Given the description of an element on the screen output the (x, y) to click on. 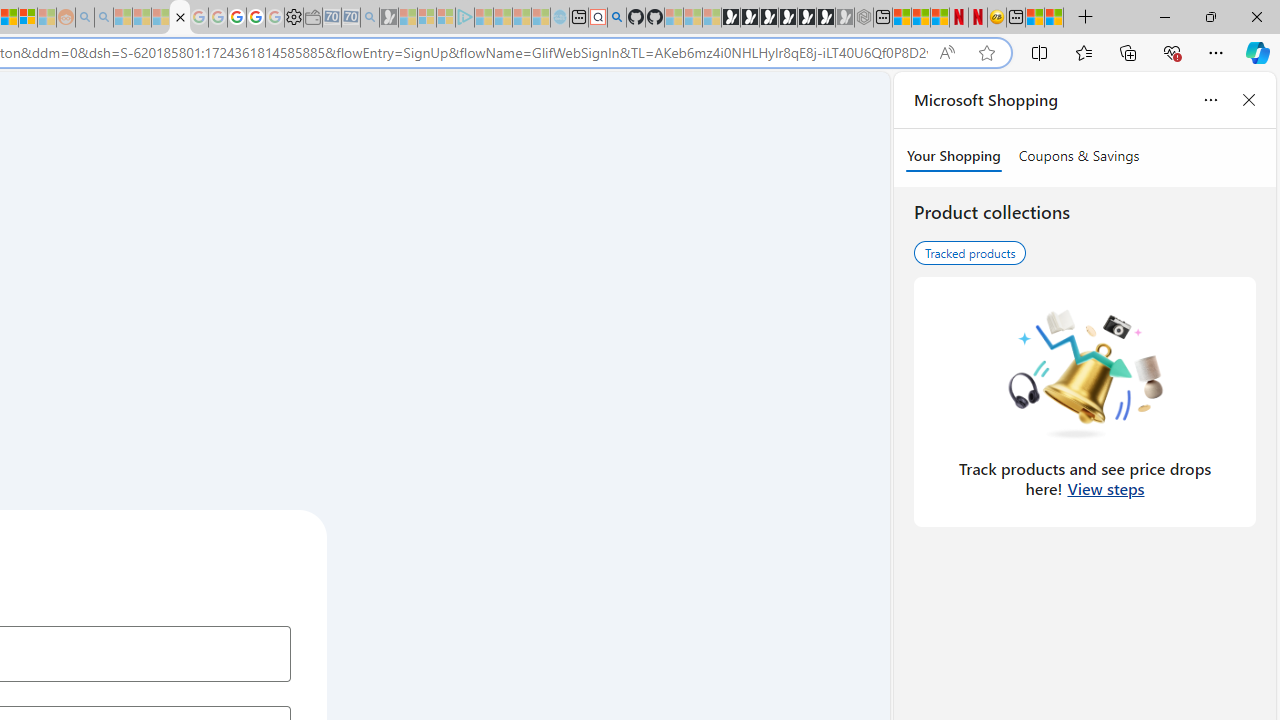
Wildlife - MSN (1035, 17)
Home | Sky Blue Bikes - Sky Blue Bikes - Sleeping (559, 17)
Microsoft Start Gaming - Sleeping (389, 17)
